Given the description of an element on the screen output the (x, y) to click on. 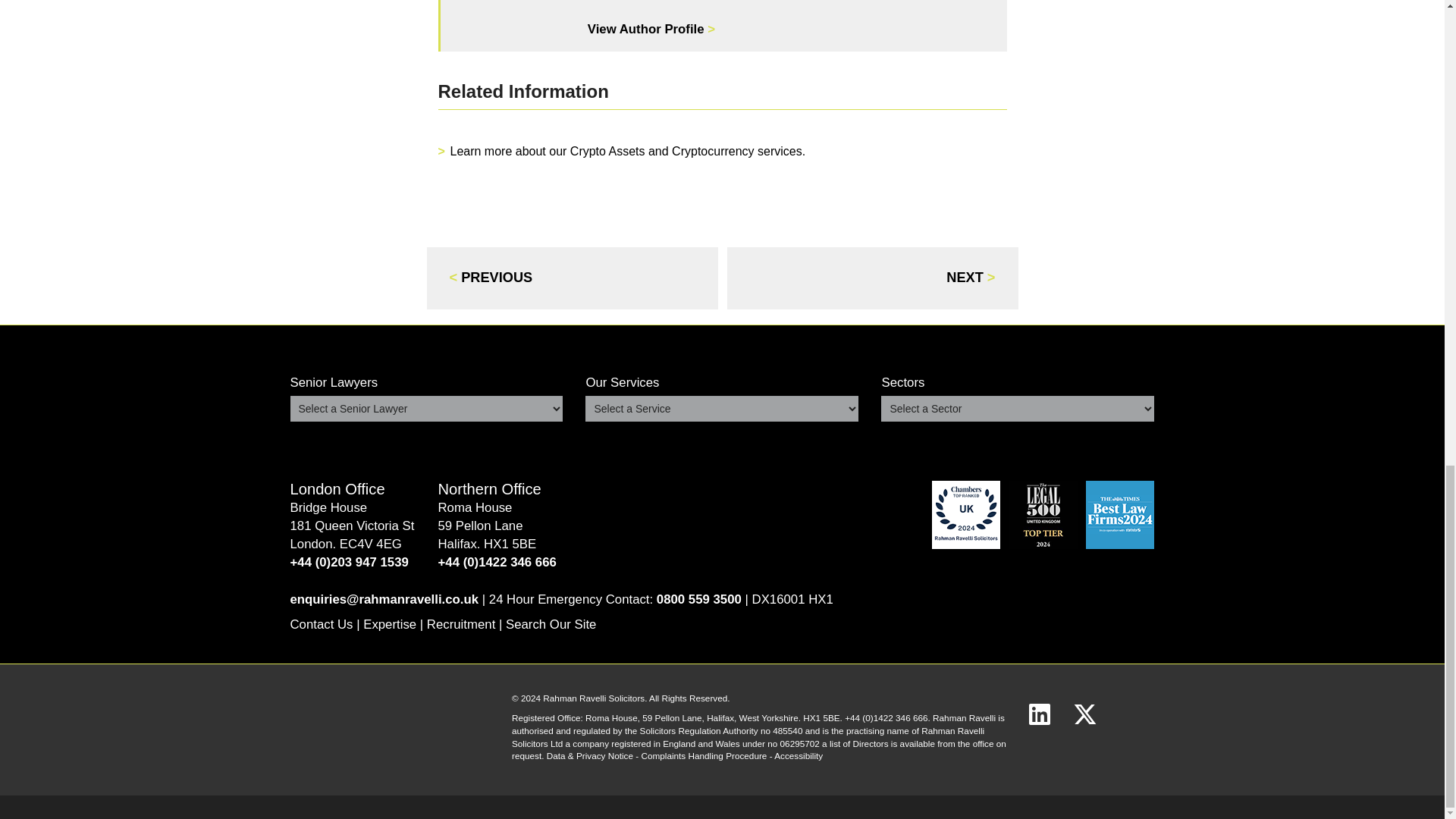
Syedur Rahman - Partner (651, 29)
Read Crypto Assets and Cryptocurrency (627, 151)
